Given the description of an element on the screen output the (x, y) to click on. 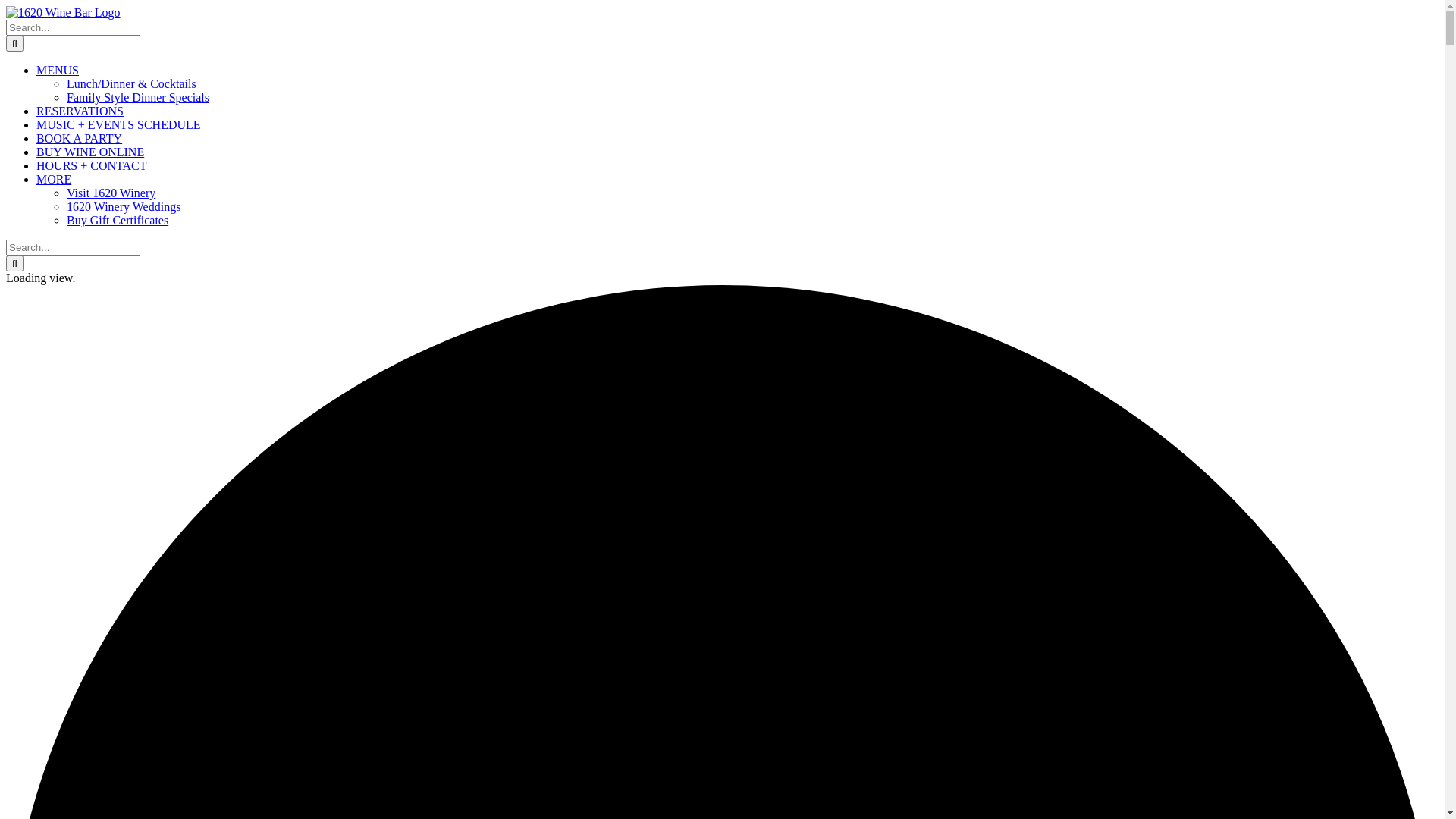
HOURS + CONTACT Element type: text (91, 165)
MENUS Element type: text (57, 69)
Family Style Dinner Specials Element type: text (137, 97)
MORE Element type: text (53, 178)
1620 Winery Weddings Element type: text (123, 206)
BUY WINE ONLINE Element type: text (90, 151)
Skip to content Element type: text (5, 5)
Visit 1620 Winery Element type: text (110, 192)
RESERVATIONS Element type: text (79, 110)
Buy Gift Certificates Element type: text (117, 219)
BOOK A PARTY Element type: text (79, 137)
Lunch/Dinner & Cocktails Element type: text (131, 83)
MUSIC + EVENTS SCHEDULE Element type: text (118, 124)
